Given the description of an element on the screen output the (x, y) to click on. 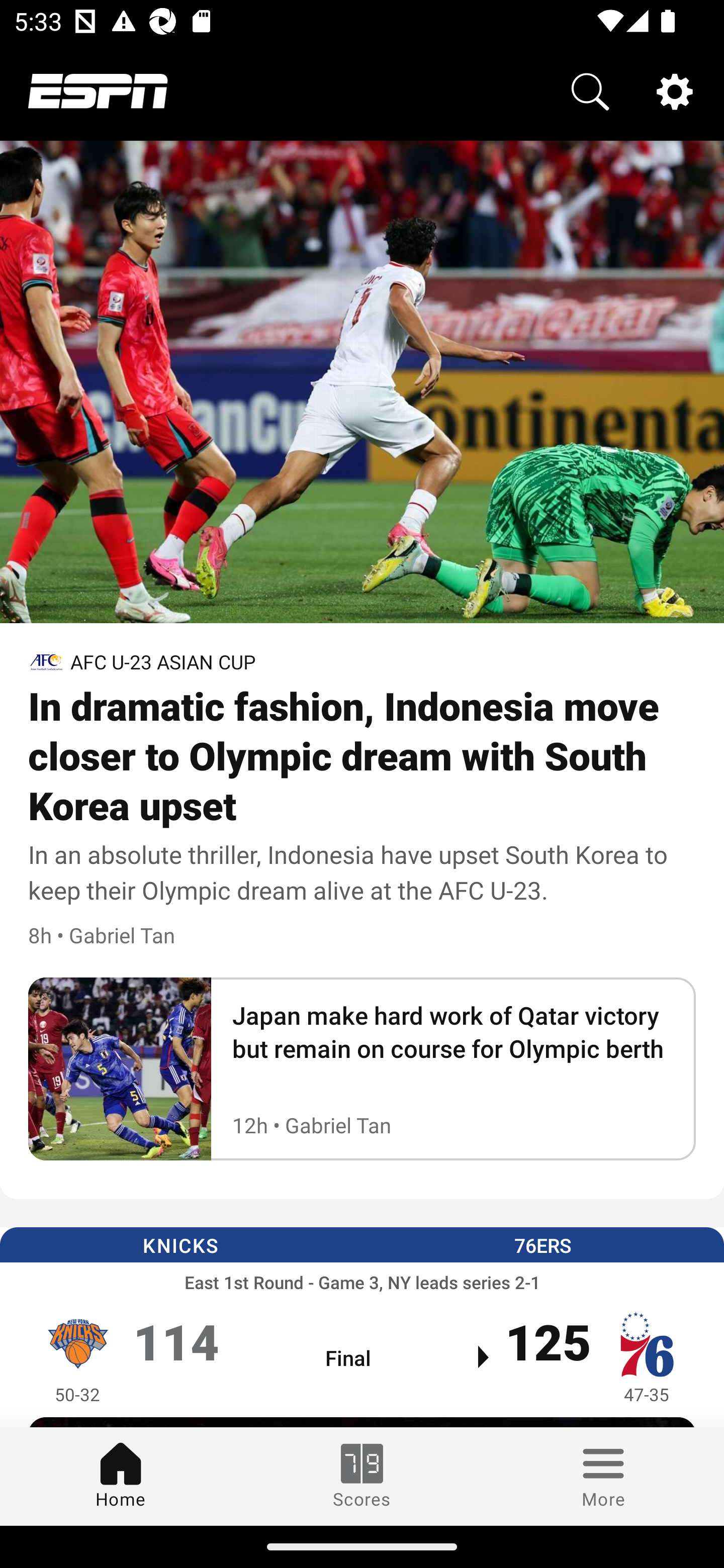
Search (590, 90)
Settings (674, 90)
Scores (361, 1475)
More (603, 1475)
